Given the description of an element on the screen output the (x, y) to click on. 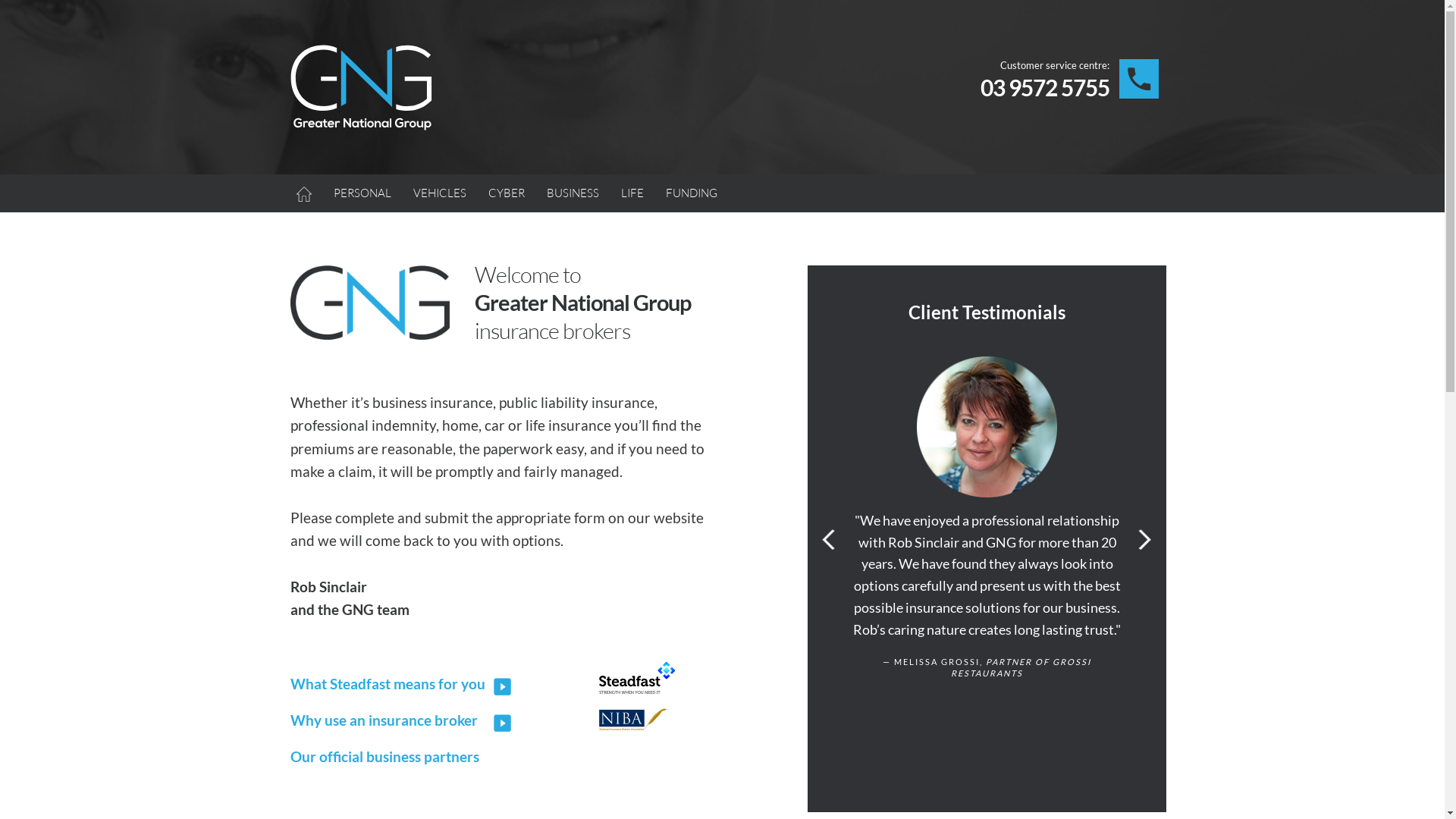
PERSONAL Element type: text (362, 193)
LIFE Element type: text (631, 193)
FUNDING Element type: text (691, 193)
CYBER Element type: text (506, 193)
What Steadfast means for you Element type: text (386, 683)
Why use an insurance broker Element type: text (382, 719)
VEHICLES Element type: text (438, 193)
BUSINESS Element type: text (572, 193)
Our official business partners Element type: text (383, 756)
